Given the description of an element on the screen output the (x, y) to click on. 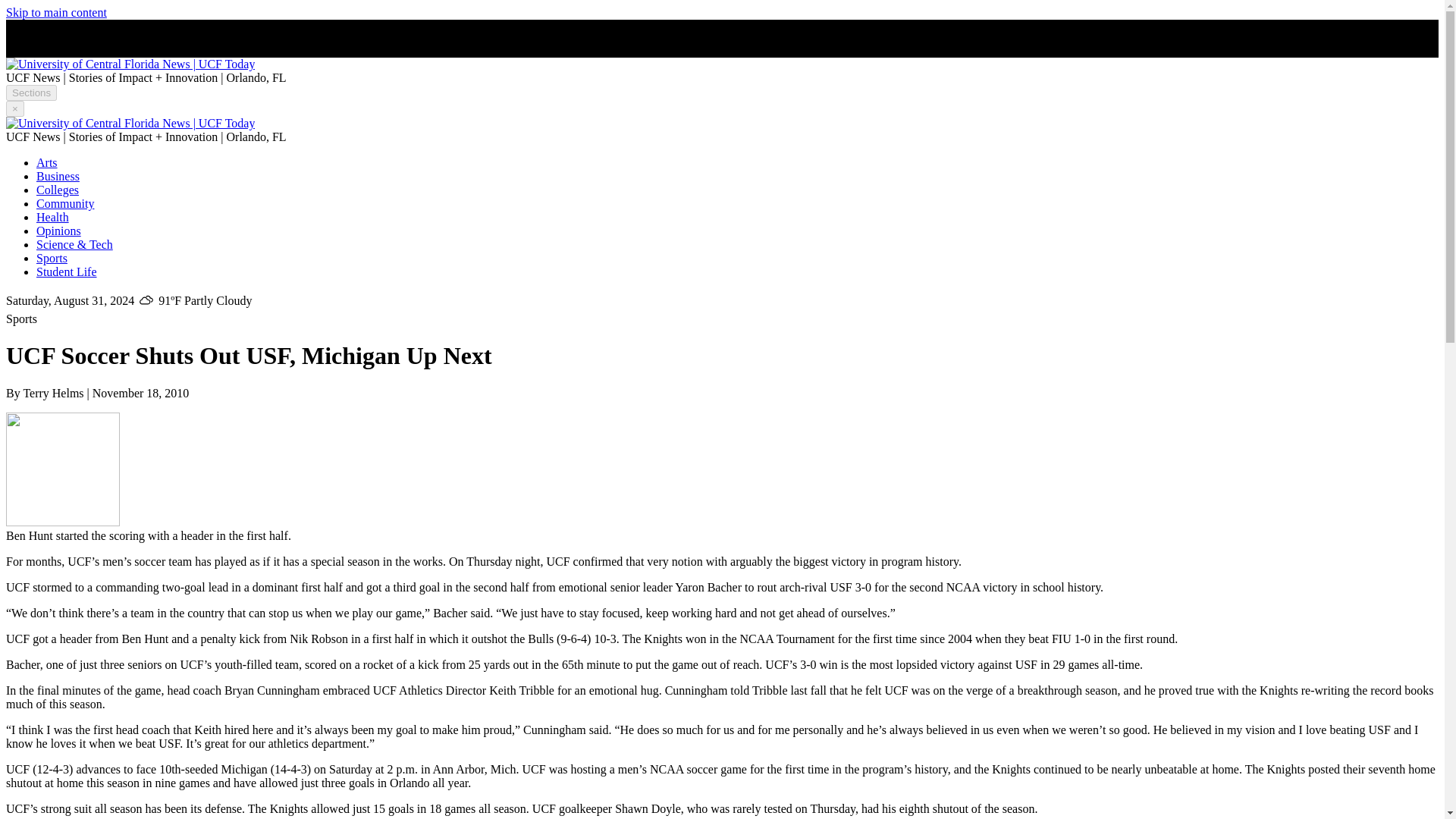
Health (52, 216)
Skip to main content (55, 11)
Community (65, 203)
Opinions (58, 230)
Sports (51, 257)
Arts (47, 162)
Colleges (57, 189)
Student Life (66, 271)
Business (58, 175)
Sections (30, 92)
